Given the description of an element on the screen output the (x, y) to click on. 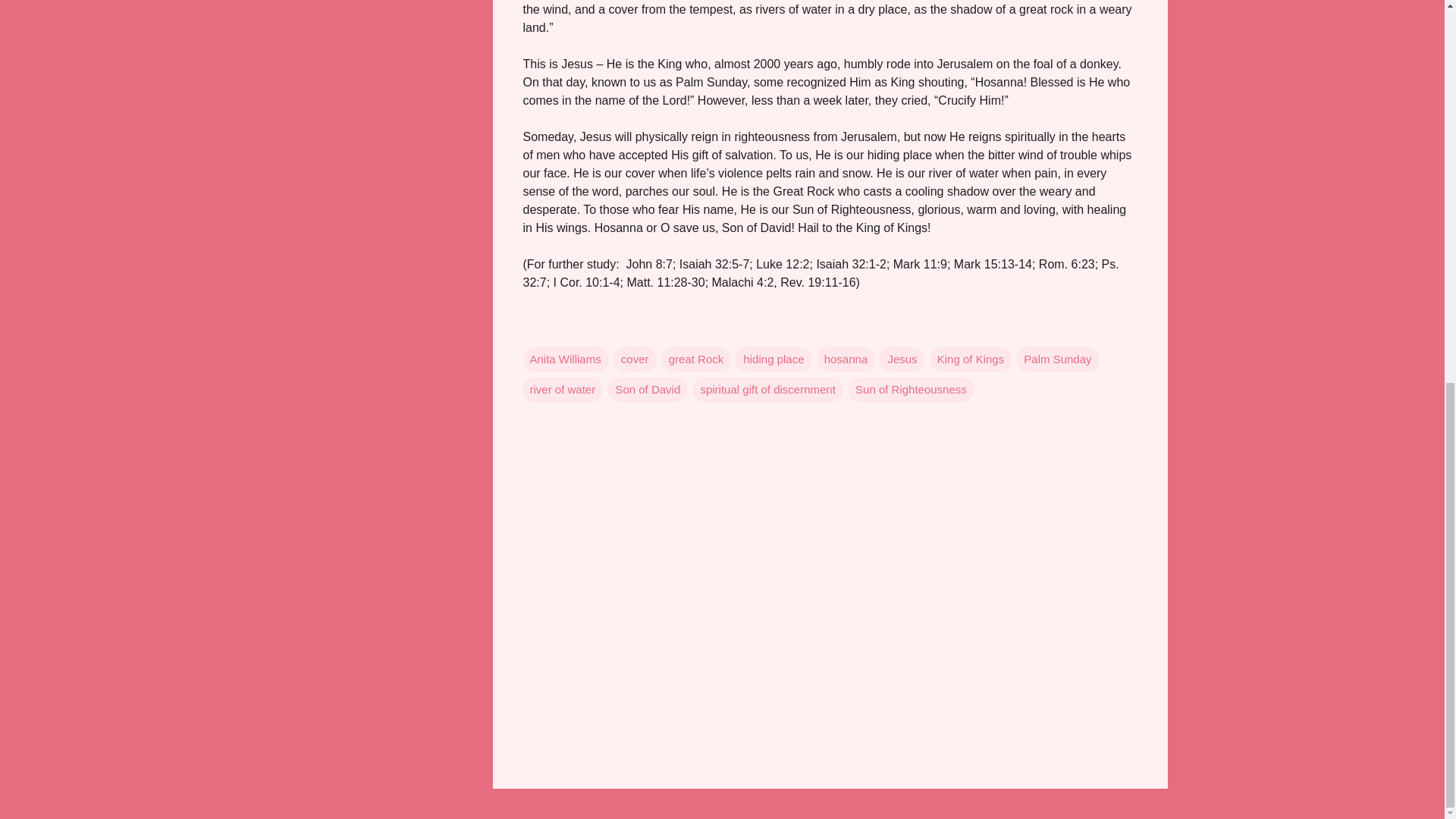
King of Kings (970, 359)
Jesus (901, 359)
Anita Williams (565, 359)
Son of David (647, 389)
hosanna (845, 359)
hiding place (773, 359)
spiritual gift of discernment (767, 389)
Sun of Righteousness (911, 389)
Palm Sunday (1056, 359)
cover (635, 359)
river of water (562, 389)
great Rock (696, 359)
